Given the description of an element on the screen output the (x, y) to click on. 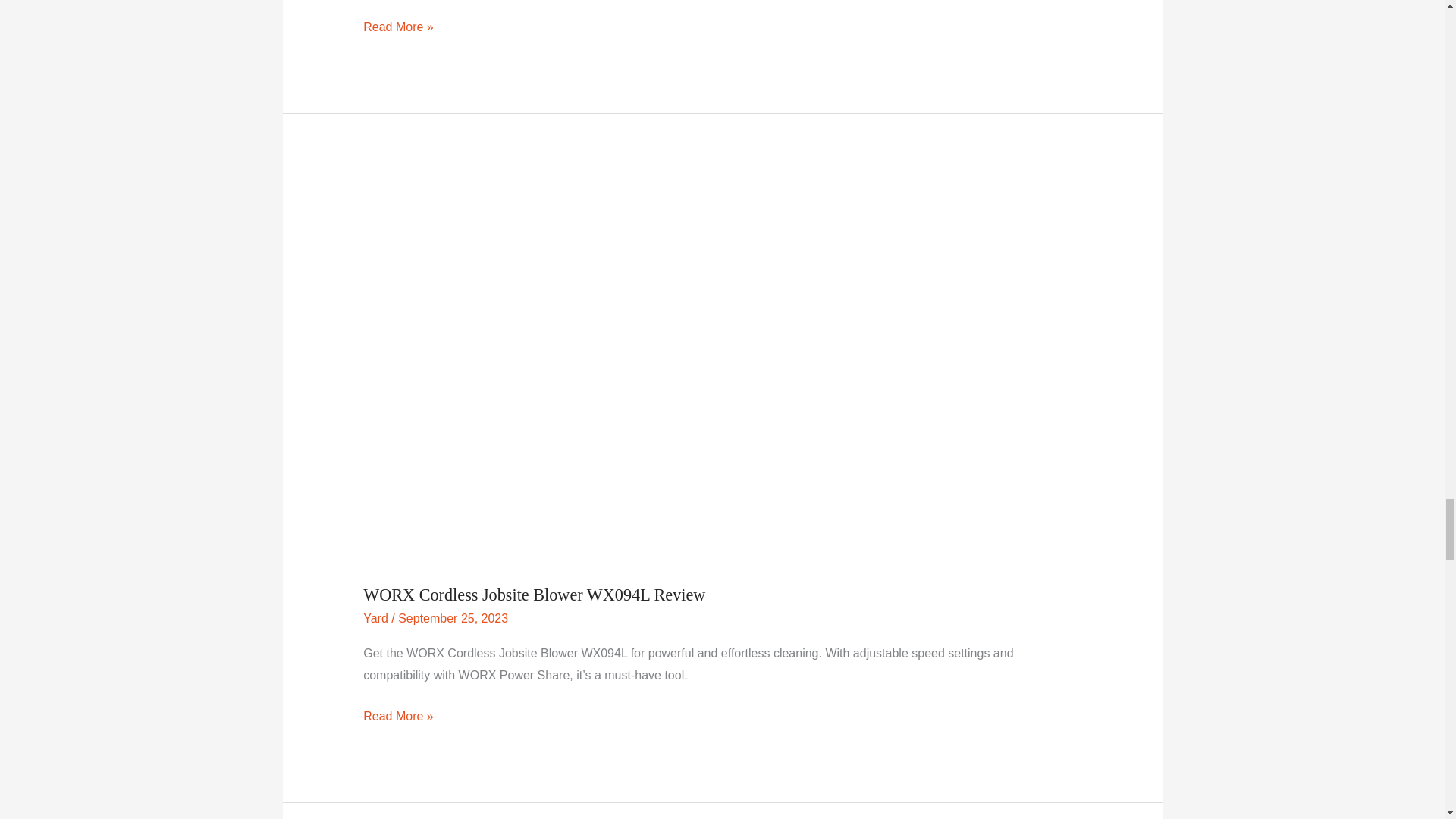
WORX Cordless Jobsite Blower WX094L Review (533, 594)
Yard (375, 617)
